Given the description of an element on the screen output the (x, y) to click on. 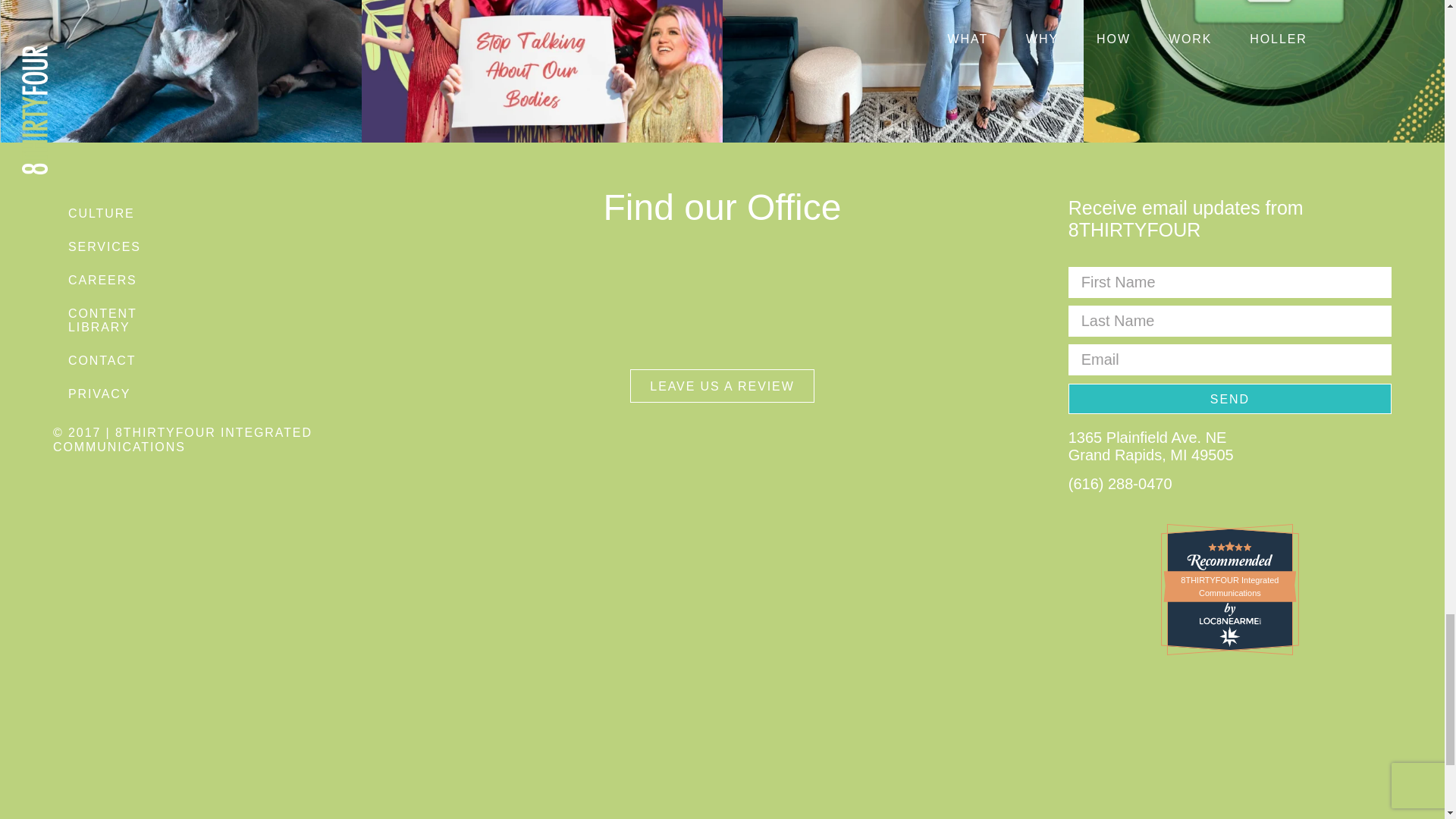
Loc8NearMe (1230, 621)
